Given the description of an element on the screen output the (x, y) to click on. 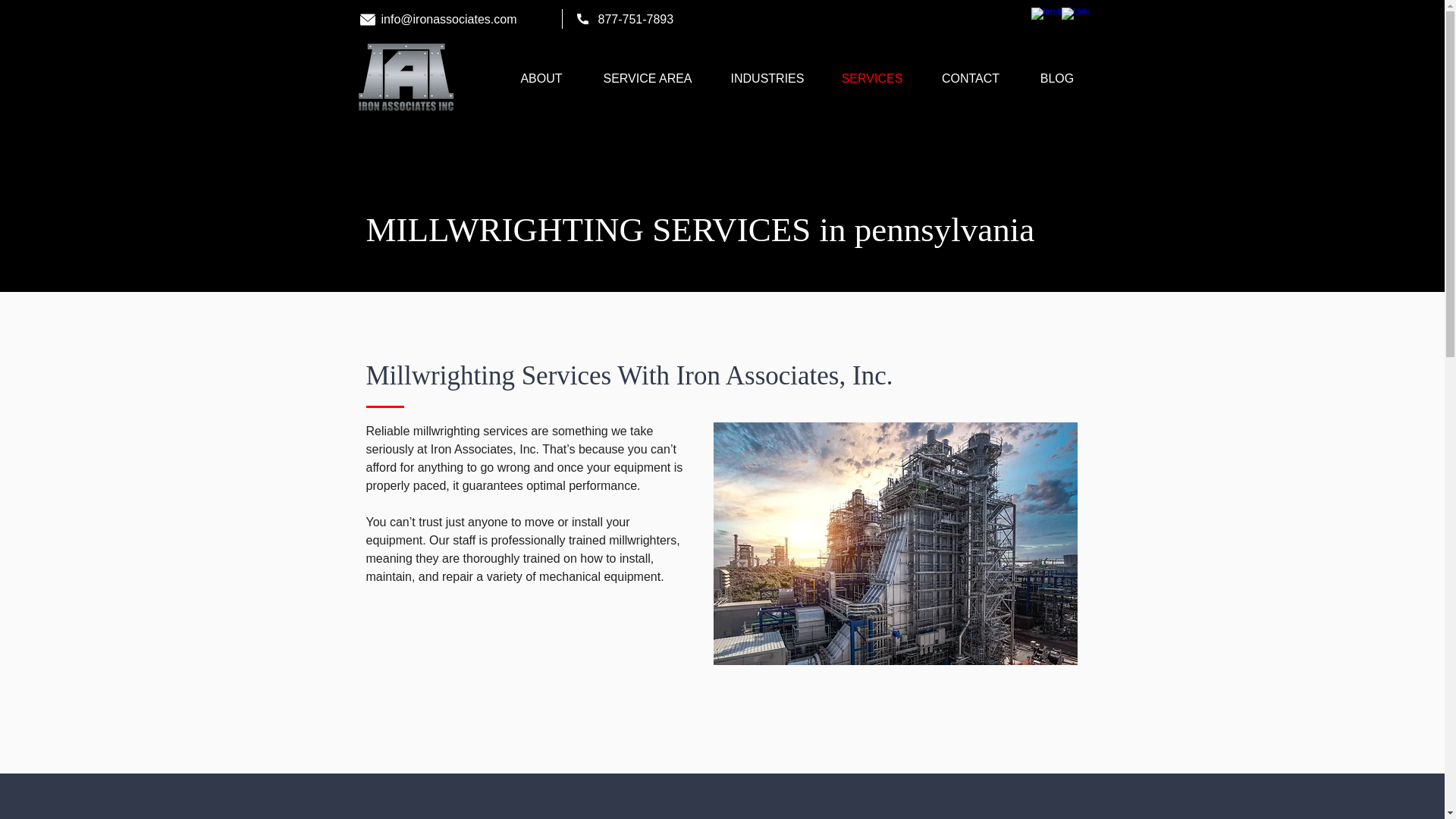
877-751-7893 (634, 19)
CONTACT (970, 78)
BLOG (1057, 78)
ABOUT (541, 78)
SERVICE AREA (647, 78)
SERVICES (872, 78)
